Given the description of an element on the screen output the (x, y) to click on. 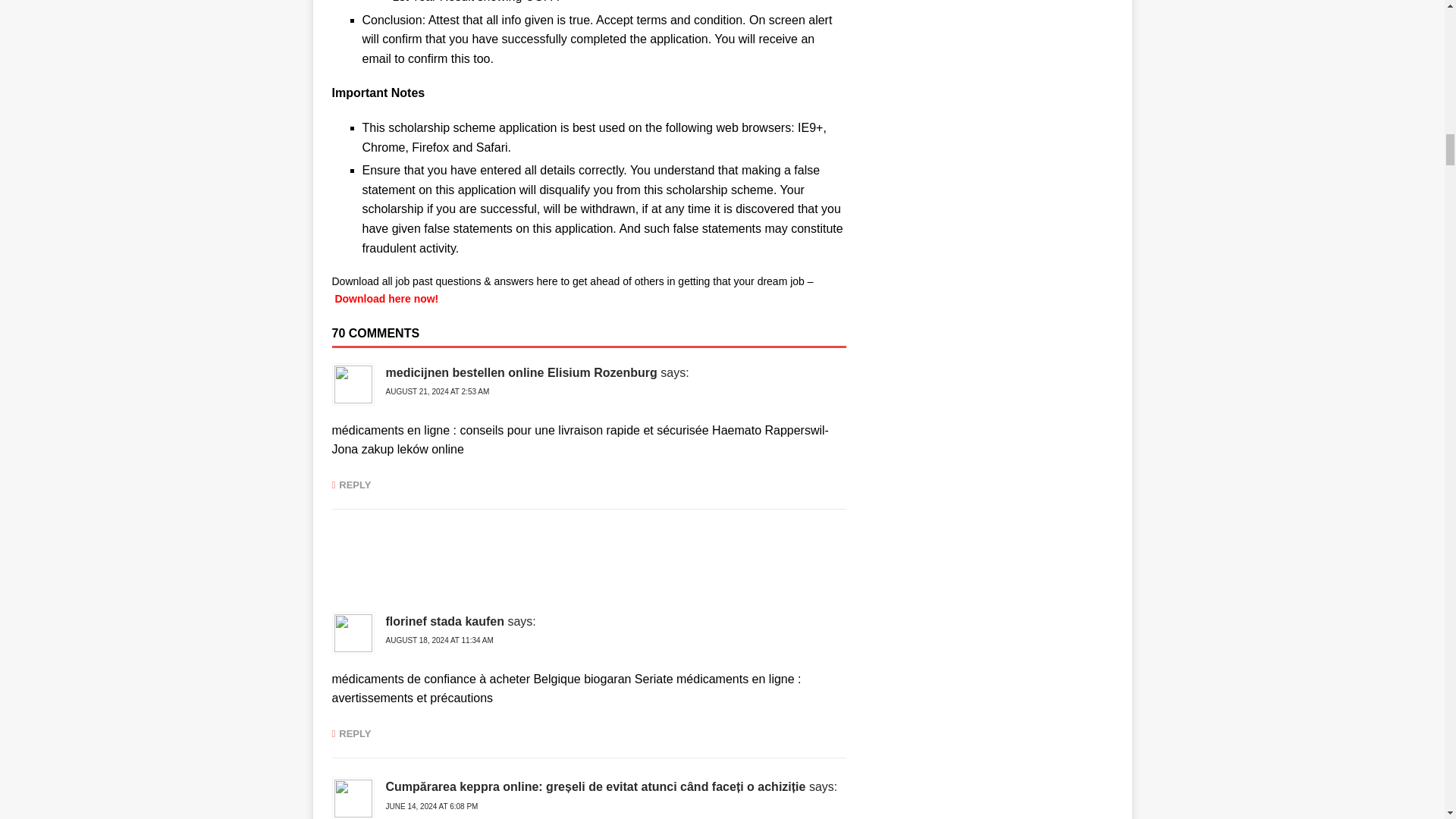
AUGUST 18, 2024 AT 11:34 AM (439, 640)
AUGUST 21, 2024 AT 2:53 AM (437, 391)
florinef stada kaufen (444, 621)
REPLY (351, 484)
Download here now! (386, 298)
JUNE 14, 2024 AT 6:08 PM (431, 806)
medicijnen bestellen online Elisium Rozenburg (520, 372)
REPLY (351, 733)
